Given the description of an element on the screen output the (x, y) to click on. 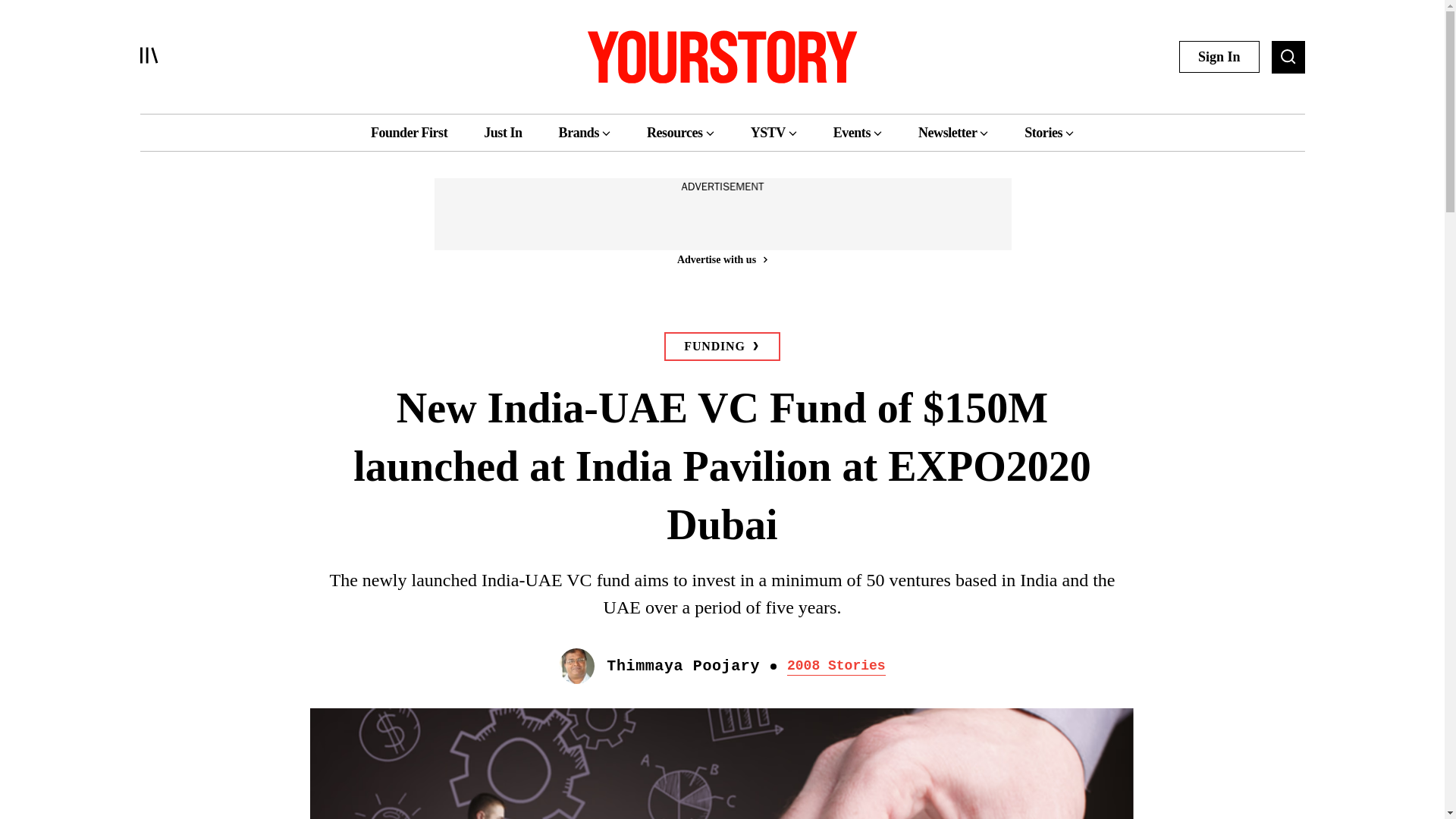
Founder First (408, 132)
2008 Stories (836, 665)
Thimmaya Poojary (683, 665)
Advertise with us (721, 259)
Just In (502, 132)
FUNDING (720, 346)
